Given the description of an element on the screen output the (x, y) to click on. 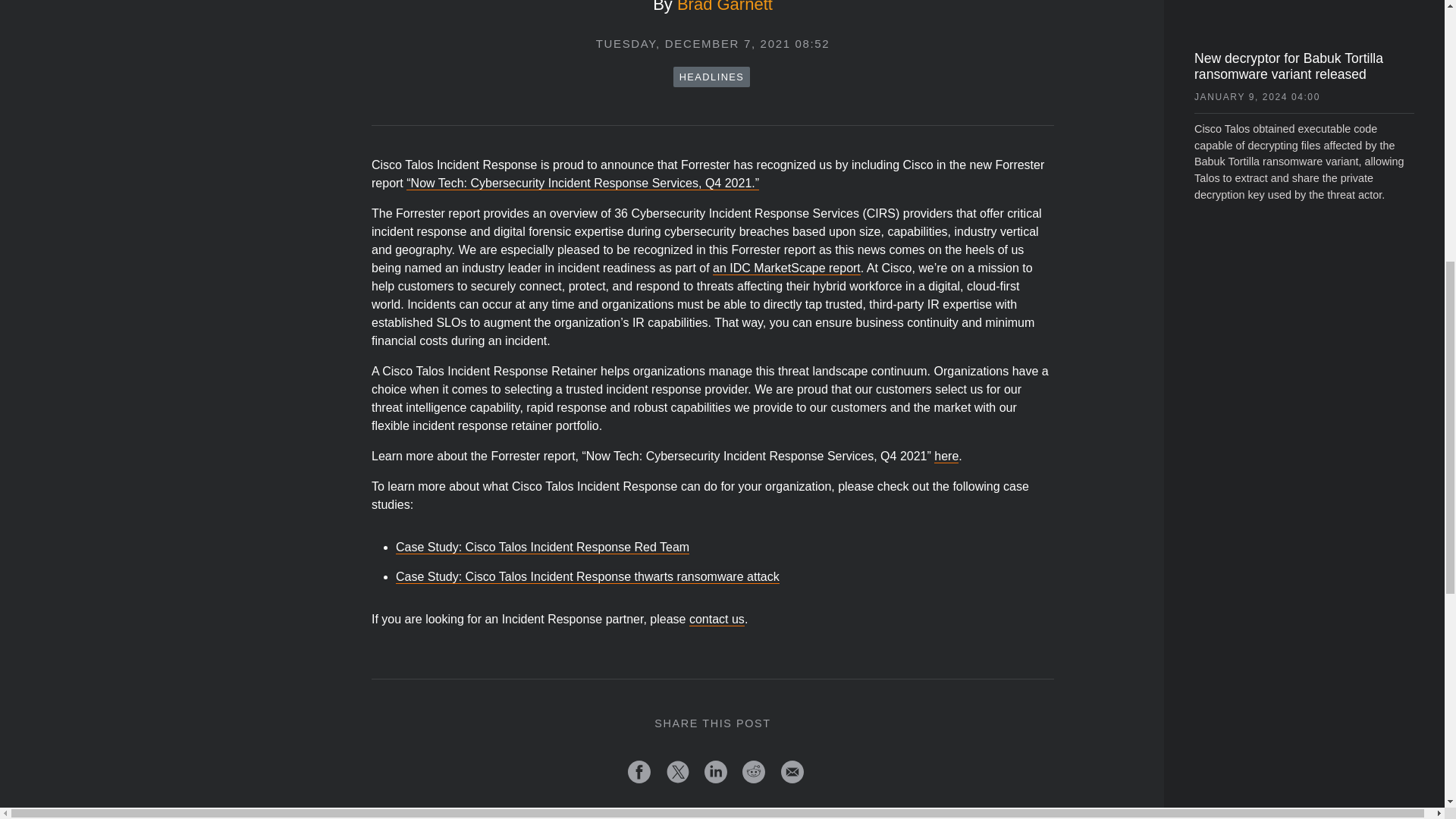
Share this on LinkedIn (715, 771)
Case Study: Cisco Talos Incident Response Red Team (542, 546)
here (946, 455)
Post This (677, 771)
Email This (791, 771)
an IDC MarketScape report (786, 267)
HEADLINES (711, 76)
Brad Garnett (725, 6)
Share this on Facebook (638, 771)
